Given the description of an element on the screen output the (x, y) to click on. 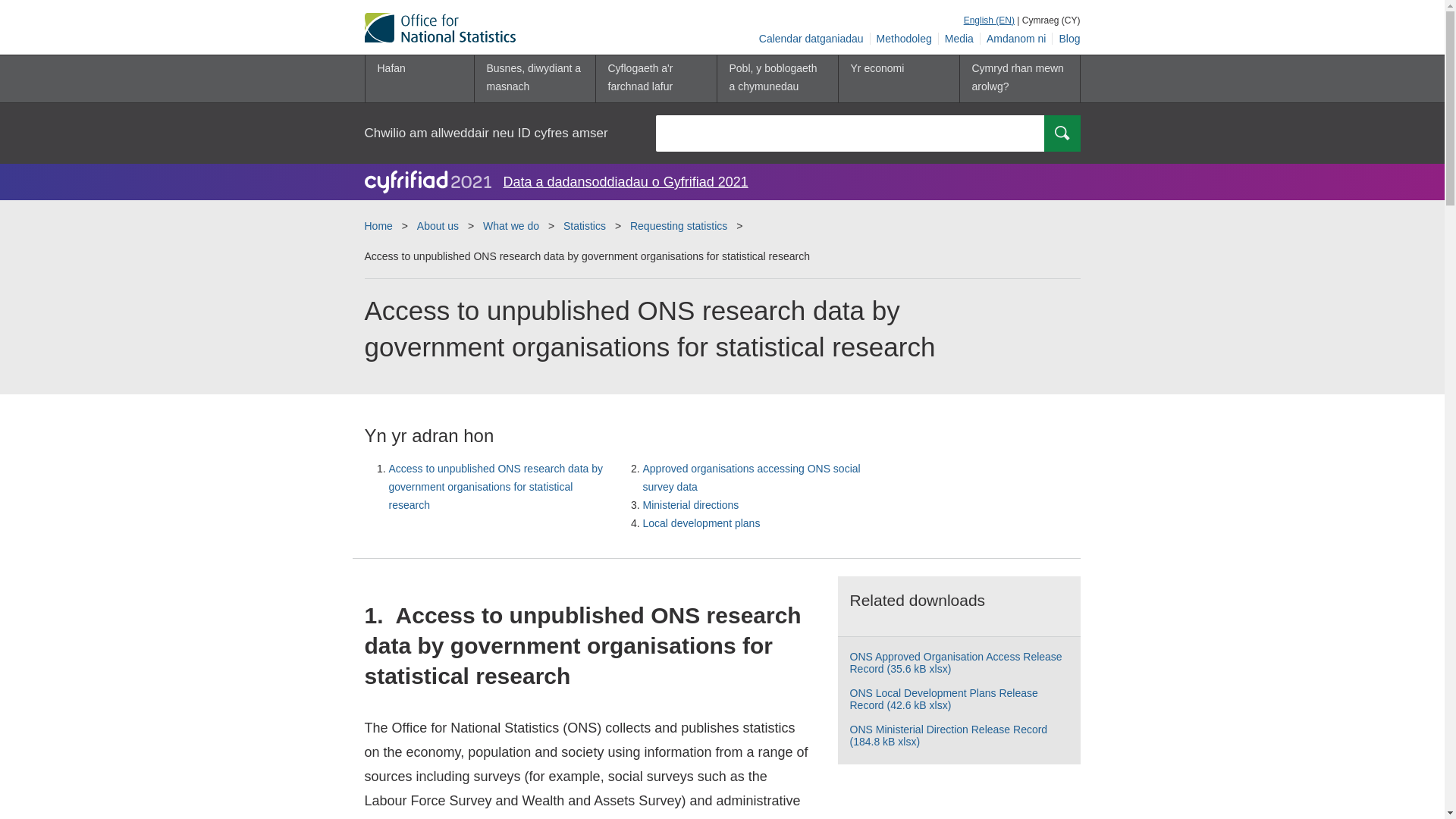
Cyfrifiad 2021 (427, 181)
Blog (1066, 38)
Hafan (418, 78)
Methodoleg (904, 38)
Cyflogaeth a'r farchnad lafur (655, 78)
Amdanom ni (1015, 38)
Ministerial directions (691, 504)
Approved organisations accessing ONS social survey data (751, 477)
Pobl, y boblogaeth a chymunedau (776, 78)
